Given the description of an element on the screen output the (x, y) to click on. 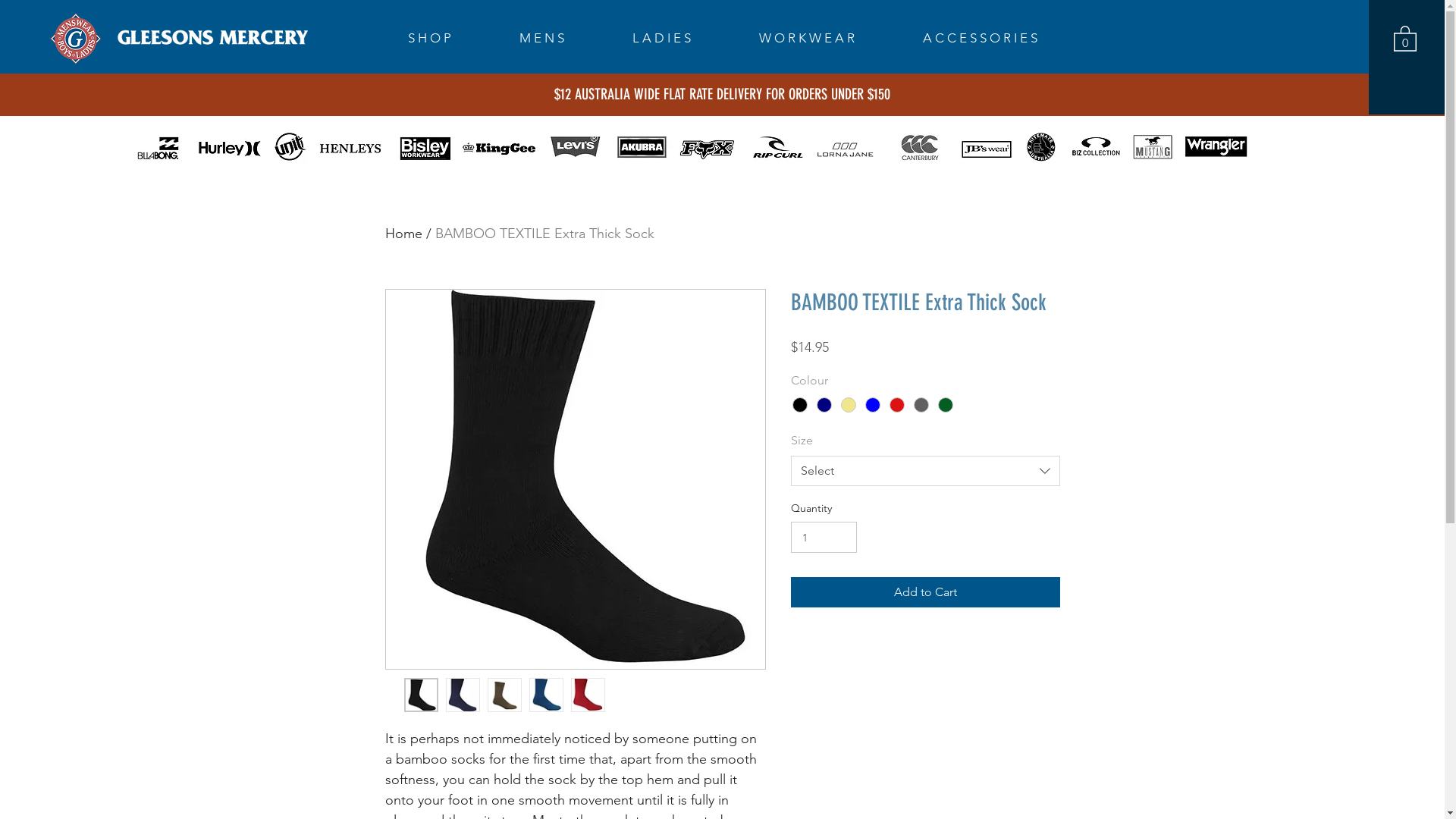
Home Element type: text (403, 233)
A C C E S S O R I E S Element type: text (1002, 37)
Add to Cart Element type: text (924, 592)
BAMBOO TEXTILE Extra Thick Sock Element type: text (544, 233)
S H O P Element type: text (451, 37)
Select Element type: text (924, 470)
M E N S Element type: text (564, 37)
0 Element type: text (1404, 37)
L A D I E S Element type: text (683, 37)
W O R K W E A R Element type: text (829, 37)
